Given the description of an element on the screen output the (x, y) to click on. 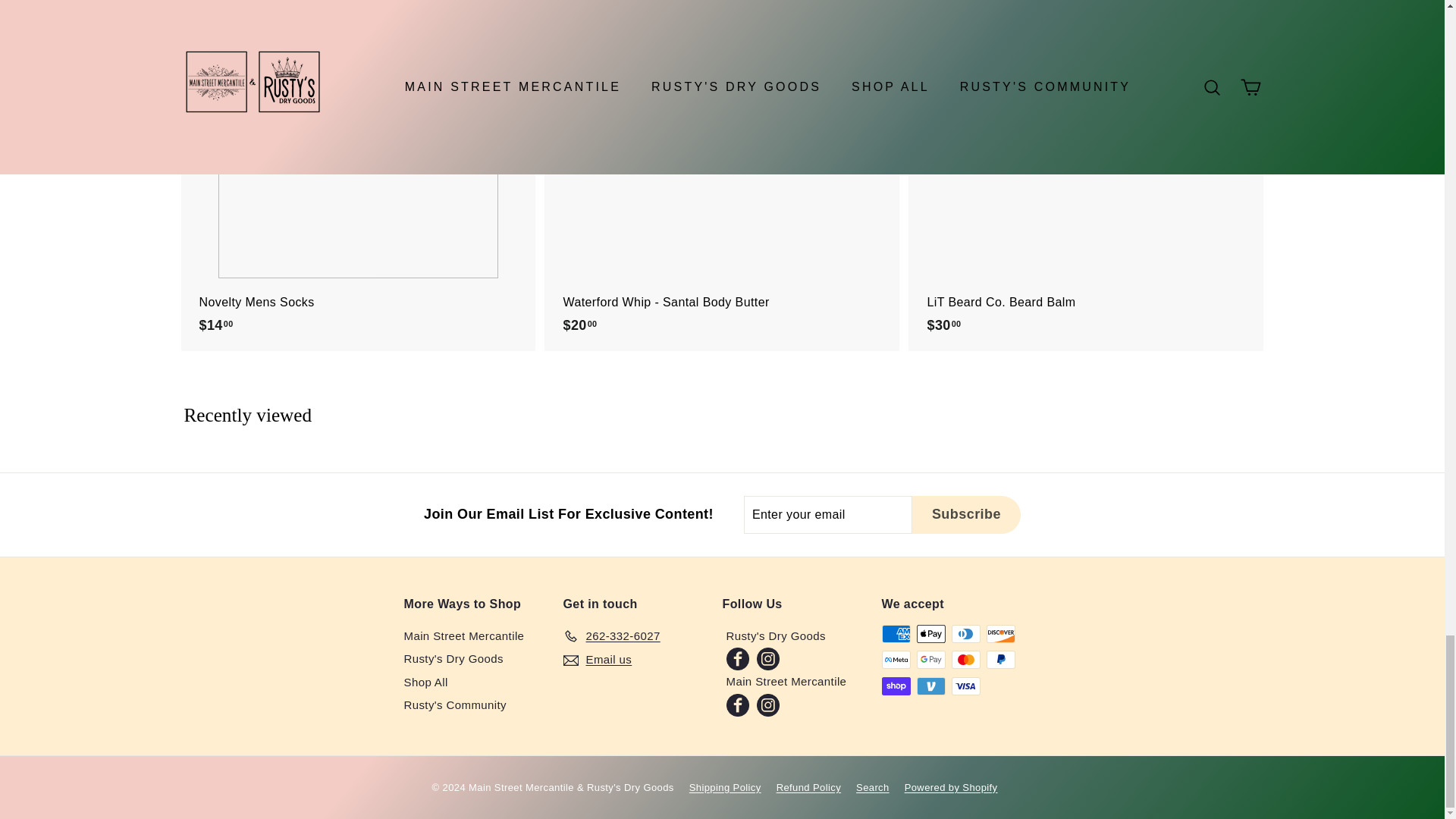
Diners Club (964, 633)
Mastercard (964, 659)
Google Pay (929, 659)
PayPal (999, 659)
Discover (999, 633)
Meta Pay (895, 659)
Shop Pay (895, 686)
Venmo (929, 686)
Apple Pay (929, 633)
American Express (895, 633)
